Given the description of an element on the screen output the (x, y) to click on. 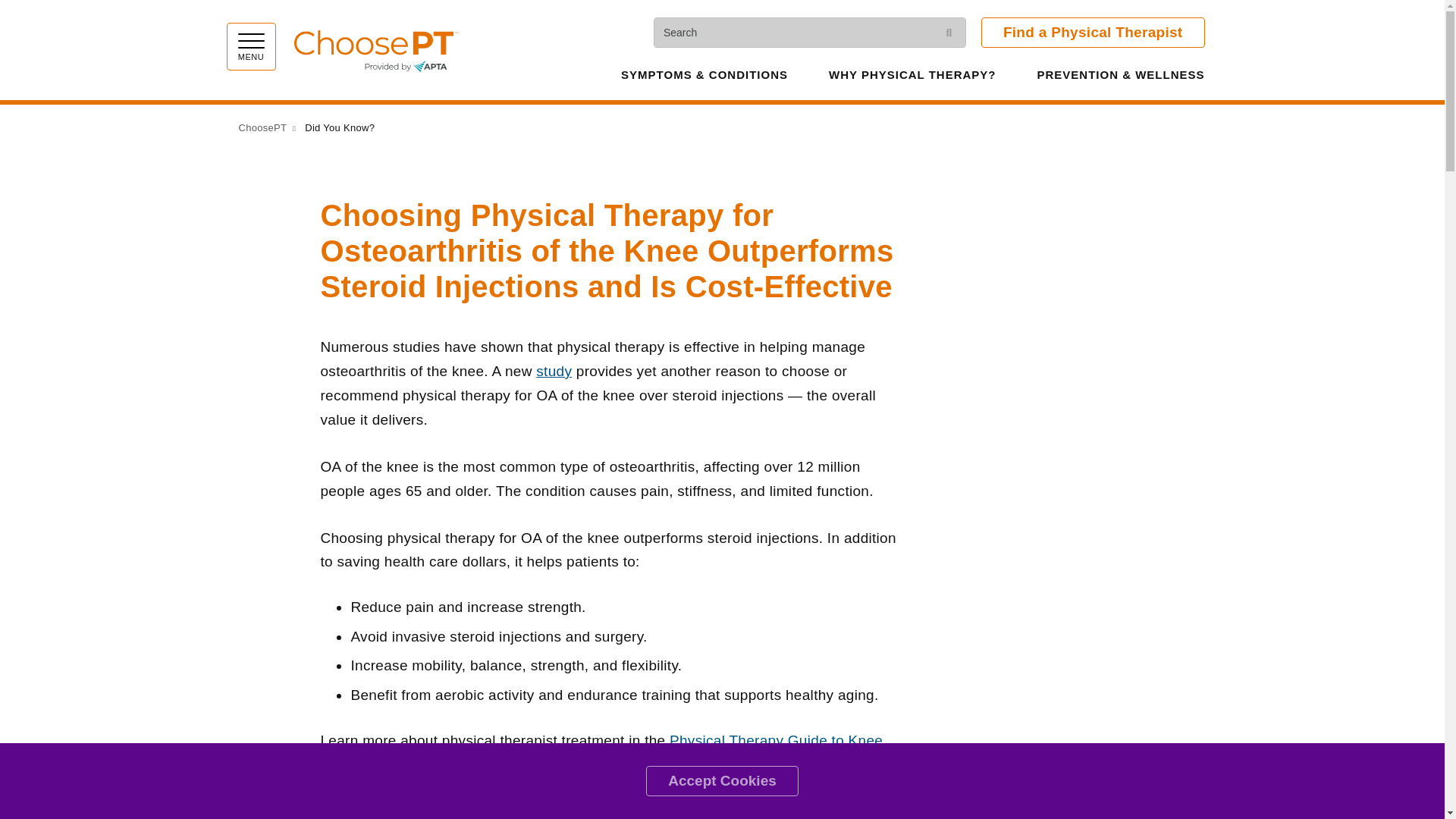
Choose PT (376, 48)
Search (948, 32)
Physical Therapy Guide to Knee Osteoarthritis (601, 752)
Find a Physical Therapist (1093, 32)
Choose PT (376, 48)
MENU (250, 46)
